Given the description of an element on the screen output the (x, y) to click on. 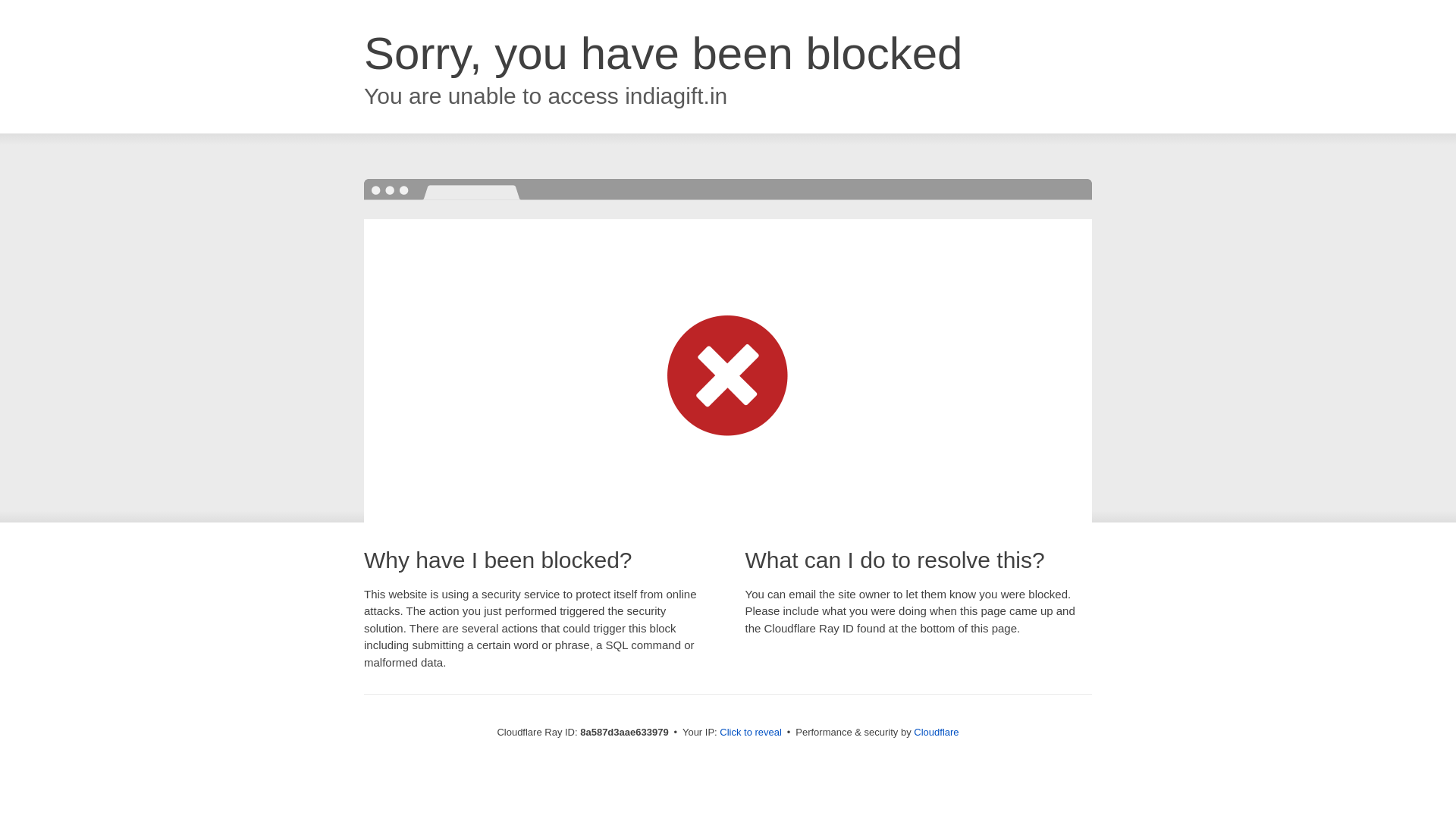
Cloudflare (936, 731)
Click to reveal (750, 732)
